Given the description of an element on the screen output the (x, y) to click on. 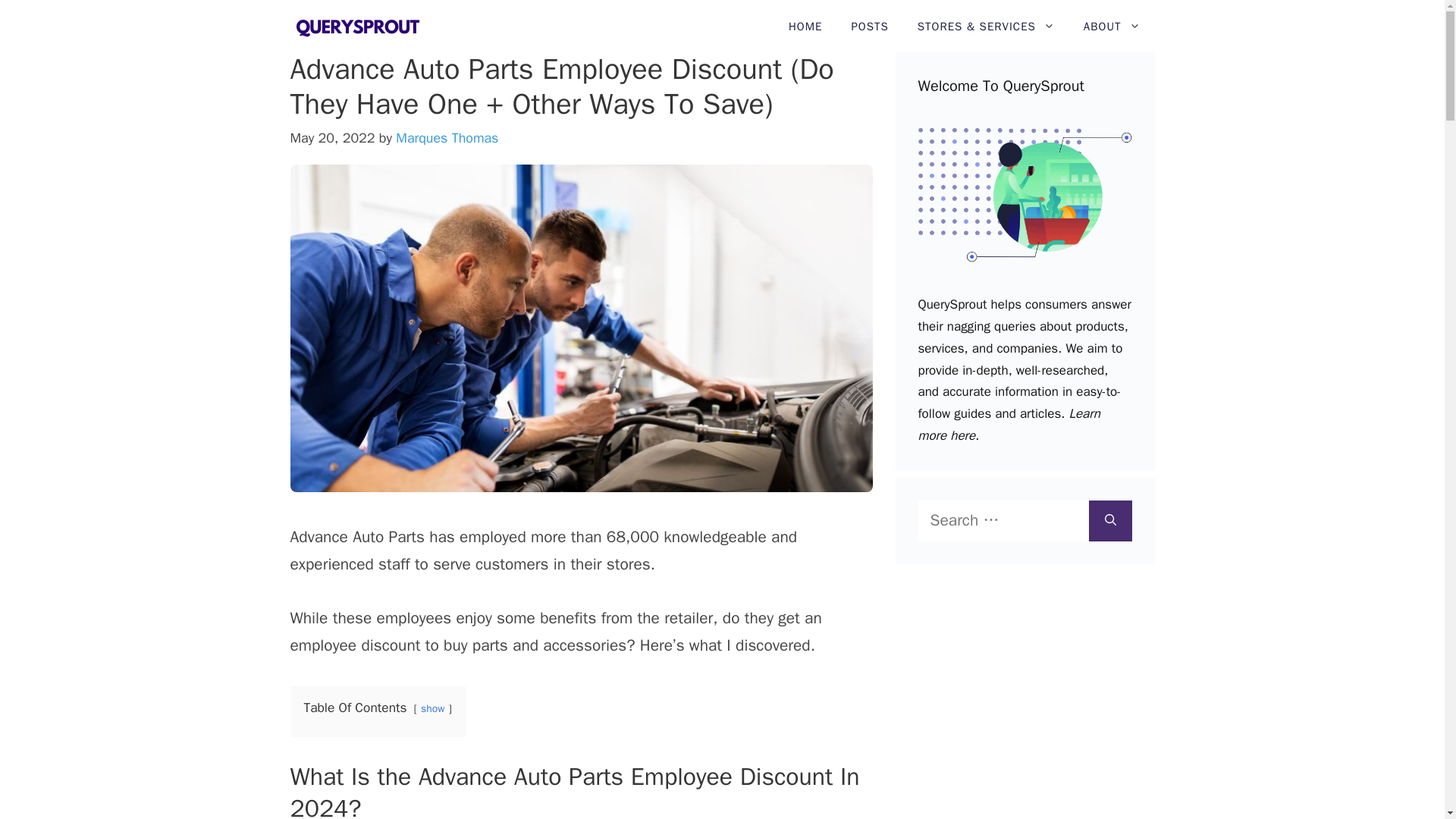
HOME (804, 26)
show (432, 707)
View all posts by Marques Thomas (446, 137)
Search for: (1002, 520)
Marques Thomas (446, 137)
POSTS (868, 26)
ABOUT (1111, 26)
